Given the description of an element on the screen output the (x, y) to click on. 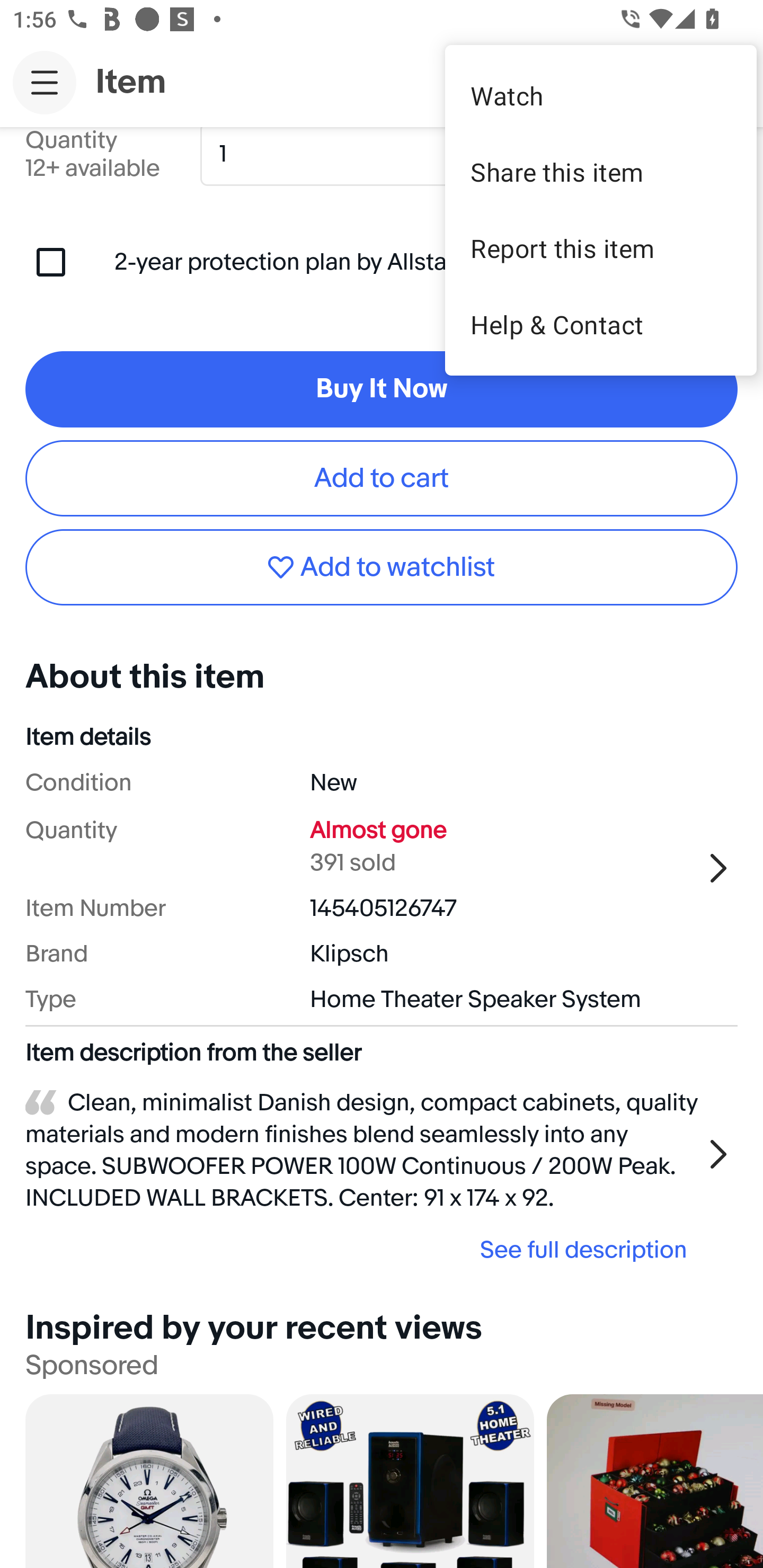
Watch (600, 95)
Share this item (600, 171)
Report this item (600, 248)
Help & Contact (600, 324)
